Given the description of an element on the screen output the (x, y) to click on. 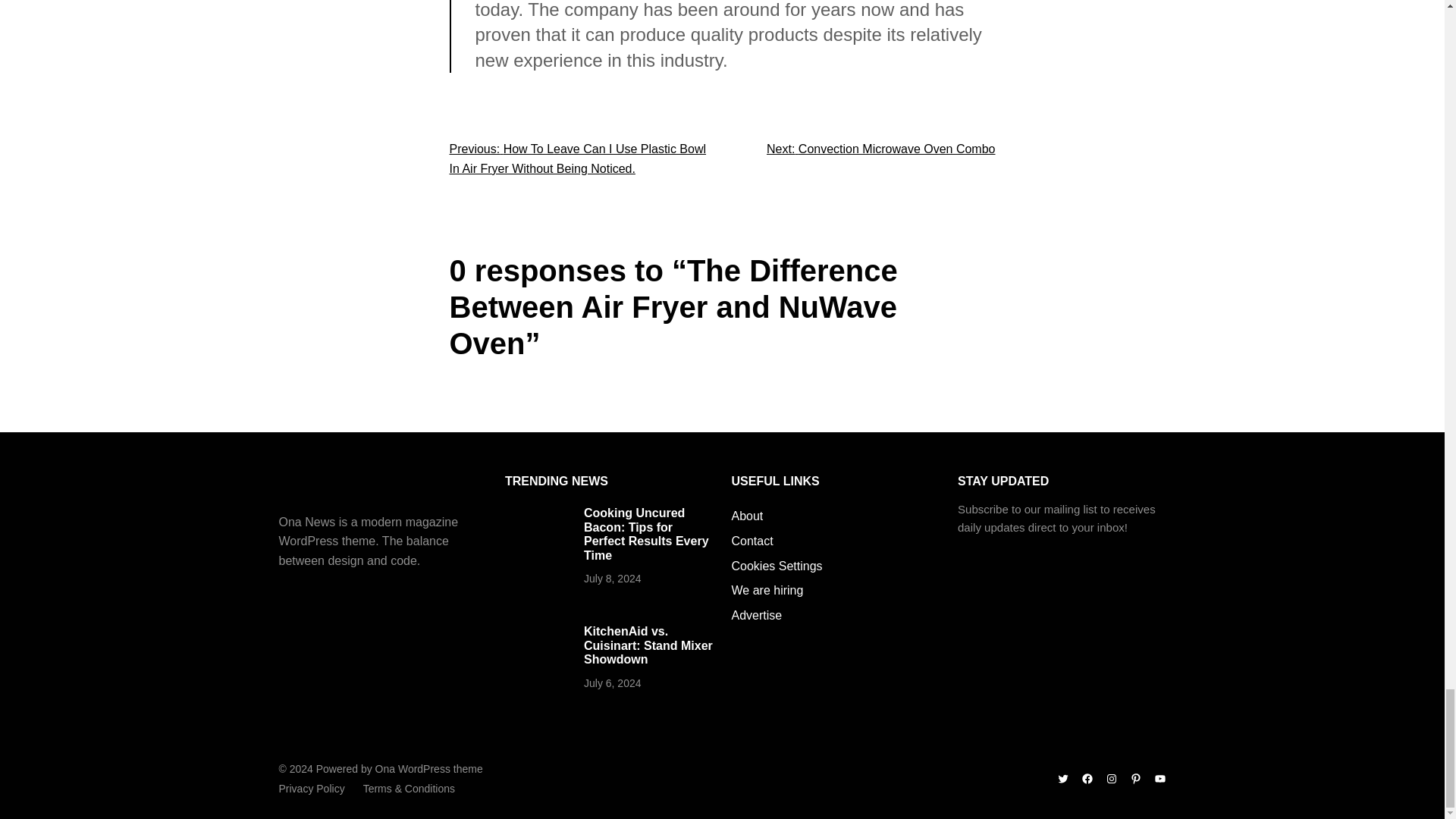
Cooking Uncured Bacon: Tips for Perfect Results Every Time (646, 533)
Instagram (1111, 778)
Cookies Settings (776, 566)
Twitter (1062, 778)
Advertise (755, 615)
Ona WordPress theme (429, 768)
KitchenAid vs. Cuisinart: Stand Mixer Showdown (648, 644)
Next: Convection Microwave Oven Combo (880, 148)
Contact (751, 541)
